Given the description of an element on the screen output the (x, y) to click on. 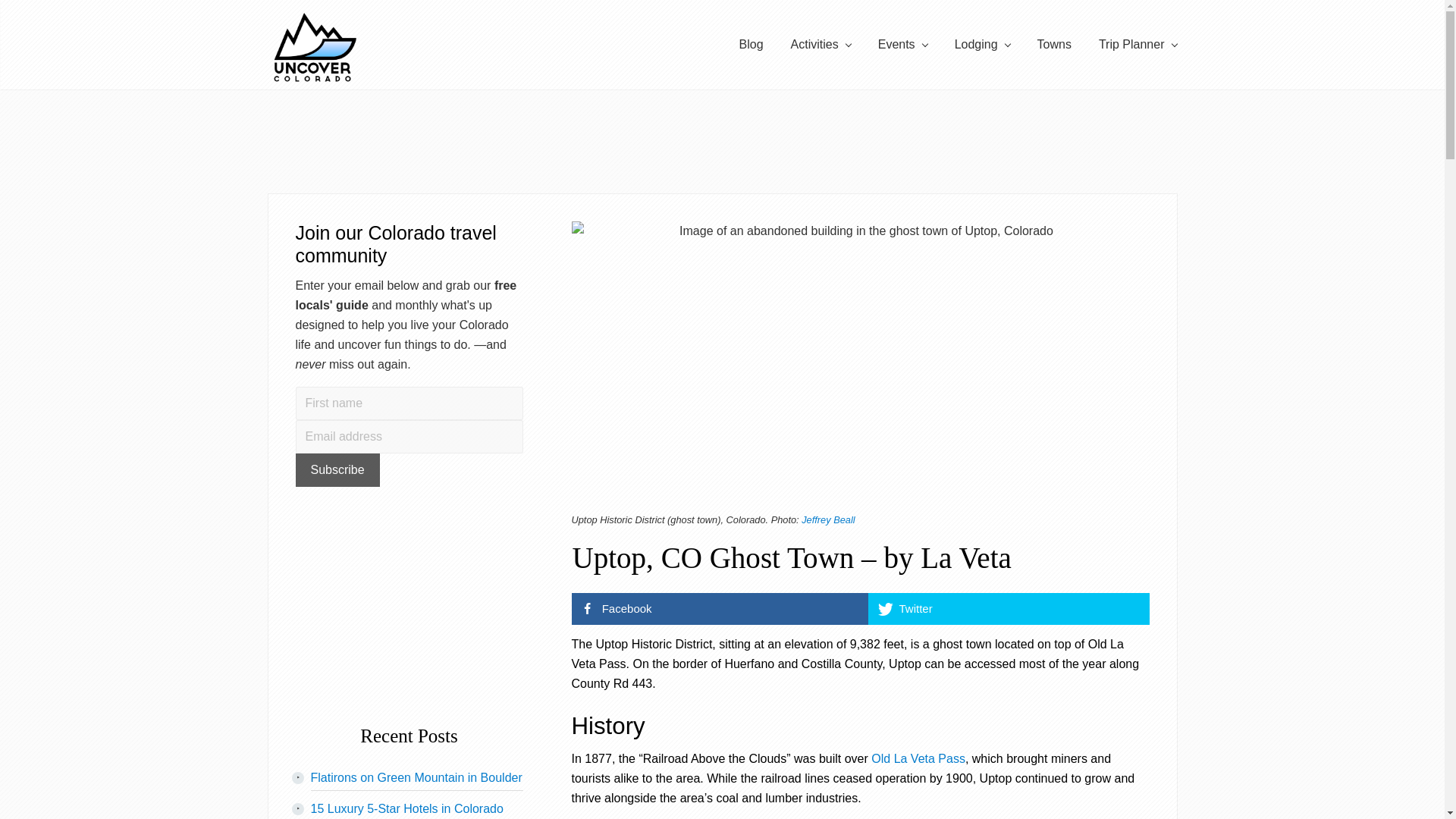
Subscribe (337, 469)
Colorado Trip Ideas (1137, 44)
Colorado Travel Blog (751, 44)
Activities (820, 44)
Blog (751, 44)
